Given the description of an element on the screen output the (x, y) to click on. 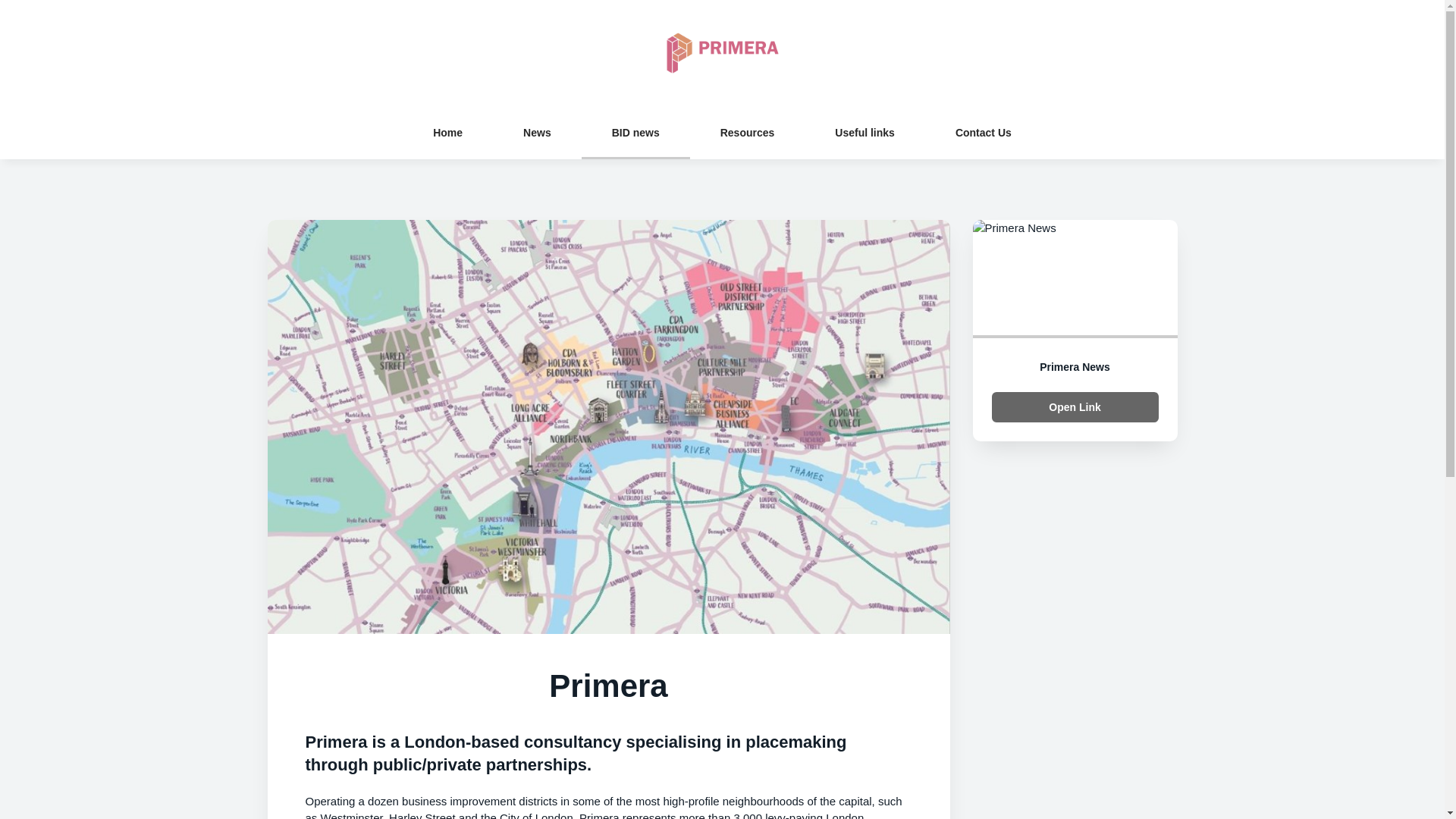
Primera News (1074, 367)
Home (448, 132)
News (536, 132)
Open Link (1074, 407)
Contact Us (983, 132)
Useful links (864, 132)
Resources (747, 132)
BID news (635, 132)
